Given the description of an element on the screen output the (x, y) to click on. 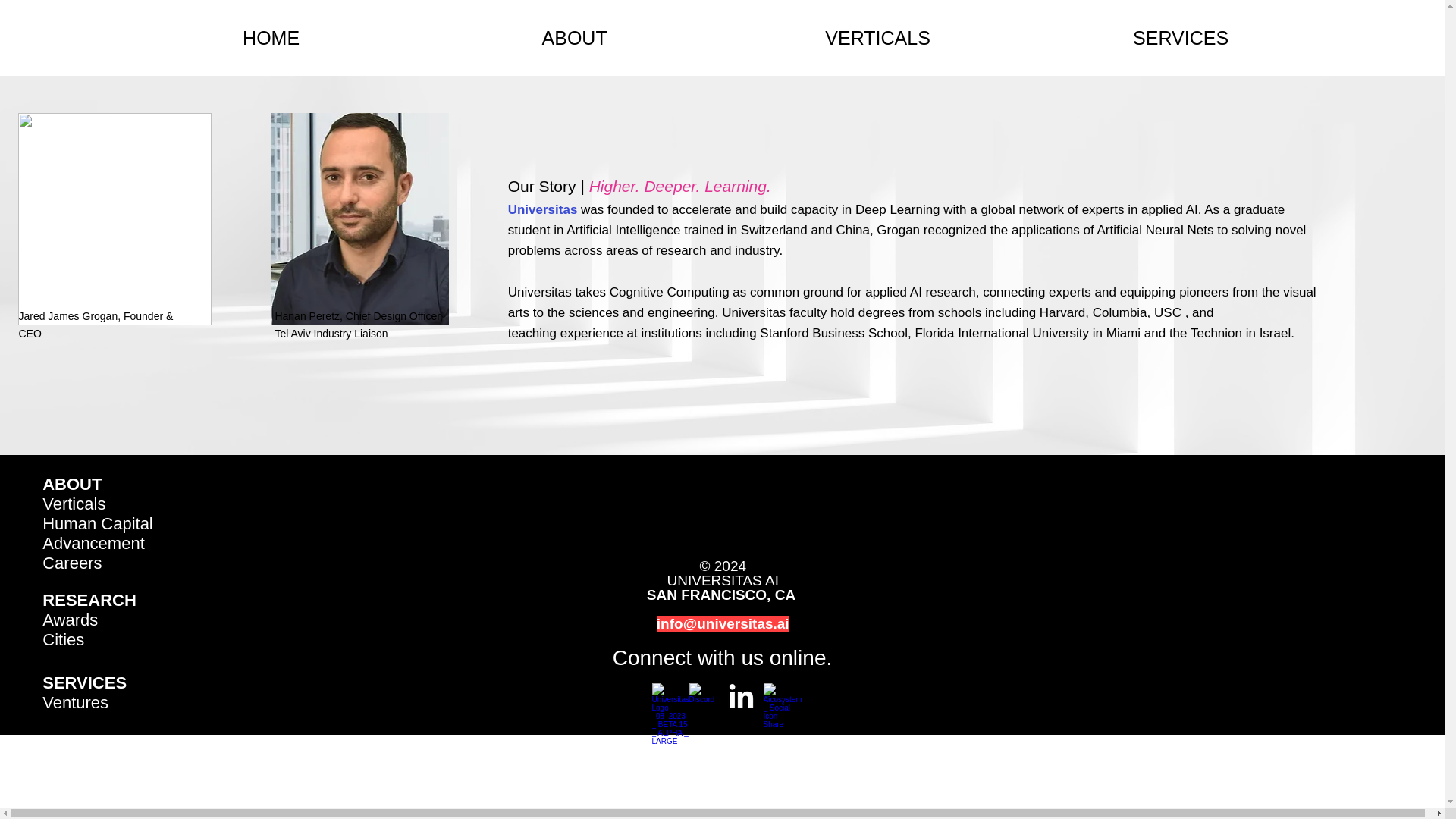
Advancement (93, 542)
ABOUT (71, 484)
Ventures (74, 701)
Careers (71, 562)
Human Capital (97, 523)
Verticals (73, 503)
Awards (69, 619)
Cities (63, 639)
VERTICALS (877, 37)
RESEARCH (88, 599)
ABOUT (574, 37)
HOME (271, 37)
SERVICES (1180, 37)
SERVICES (84, 682)
